Given the description of an element on the screen output the (x, y) to click on. 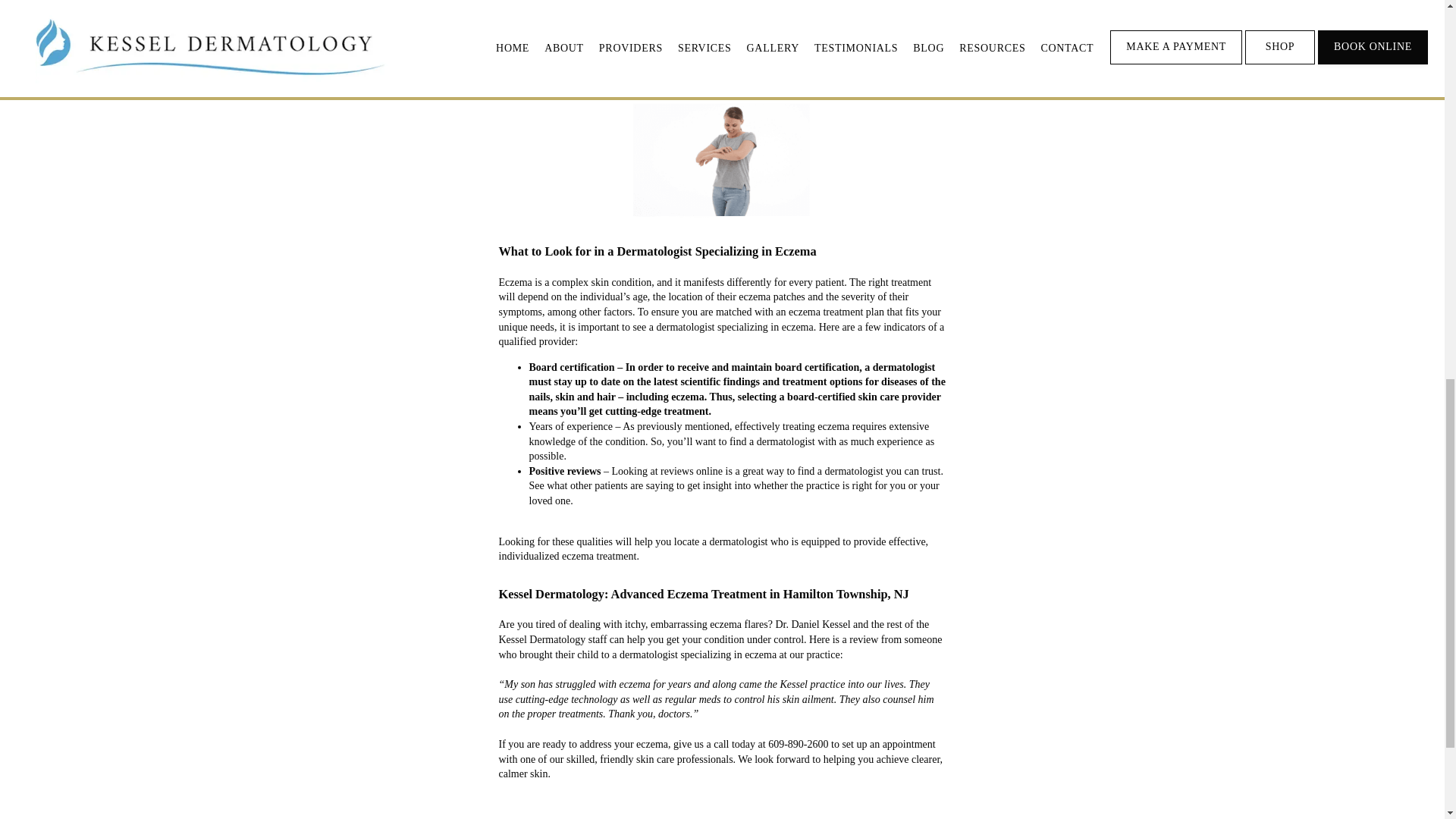
atopic dermatitis (876, 6)
